Given the description of an element on the screen output the (x, y) to click on. 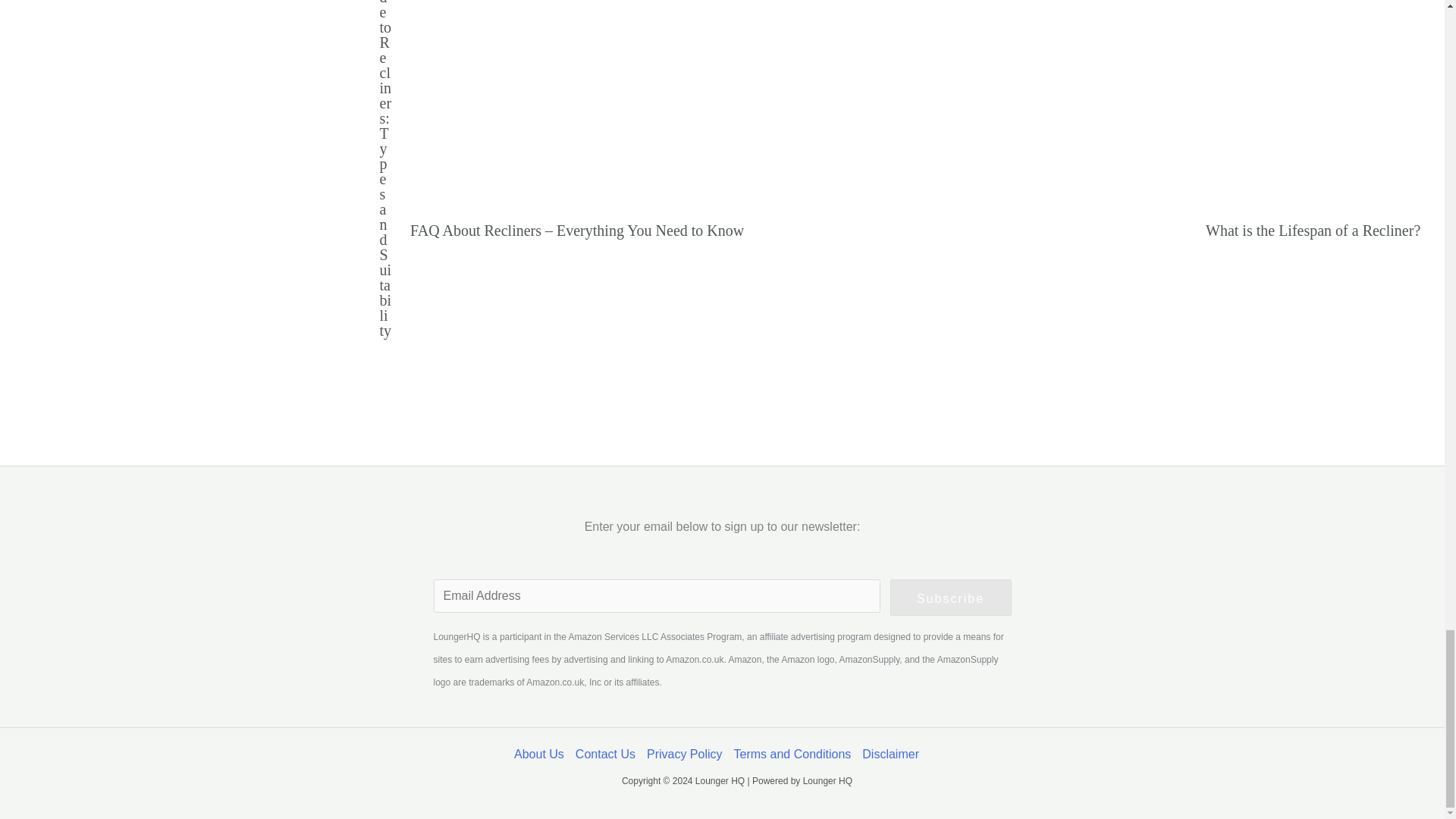
What is the Lifespan of a Recliner? (1313, 230)
